Given the description of an element on the screen output the (x, y) to click on. 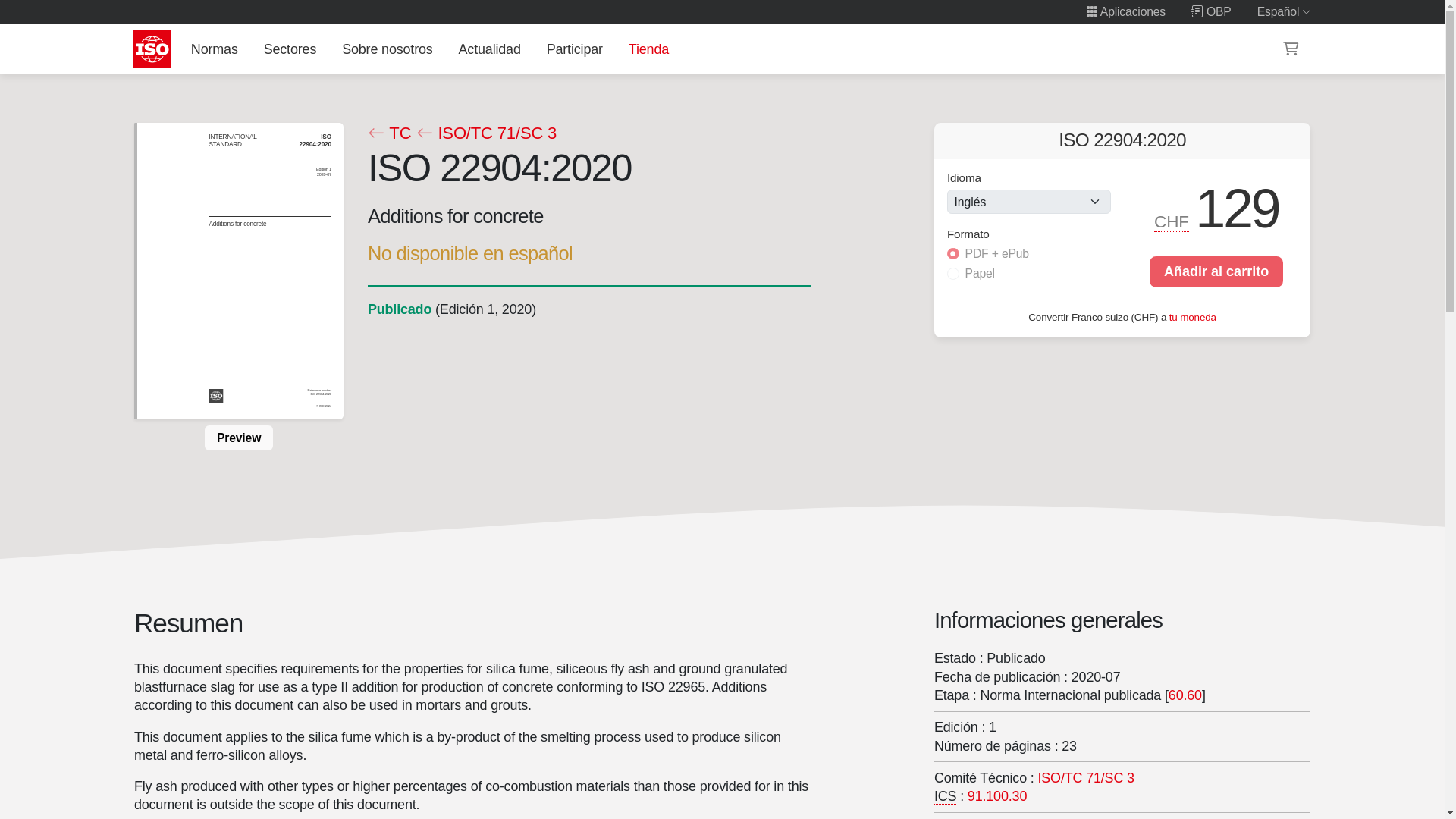
Actualidad (489, 48)
60.60 (1185, 694)
TC (388, 133)
Portal de aplicaciones de ISO (1126, 11)
Normas (214, 48)
Tienda (648, 48)
Sobre nosotros (387, 48)
Francos suizos (1171, 221)
60.60 (1185, 694)
